Given the description of an element on the screen output the (x, y) to click on. 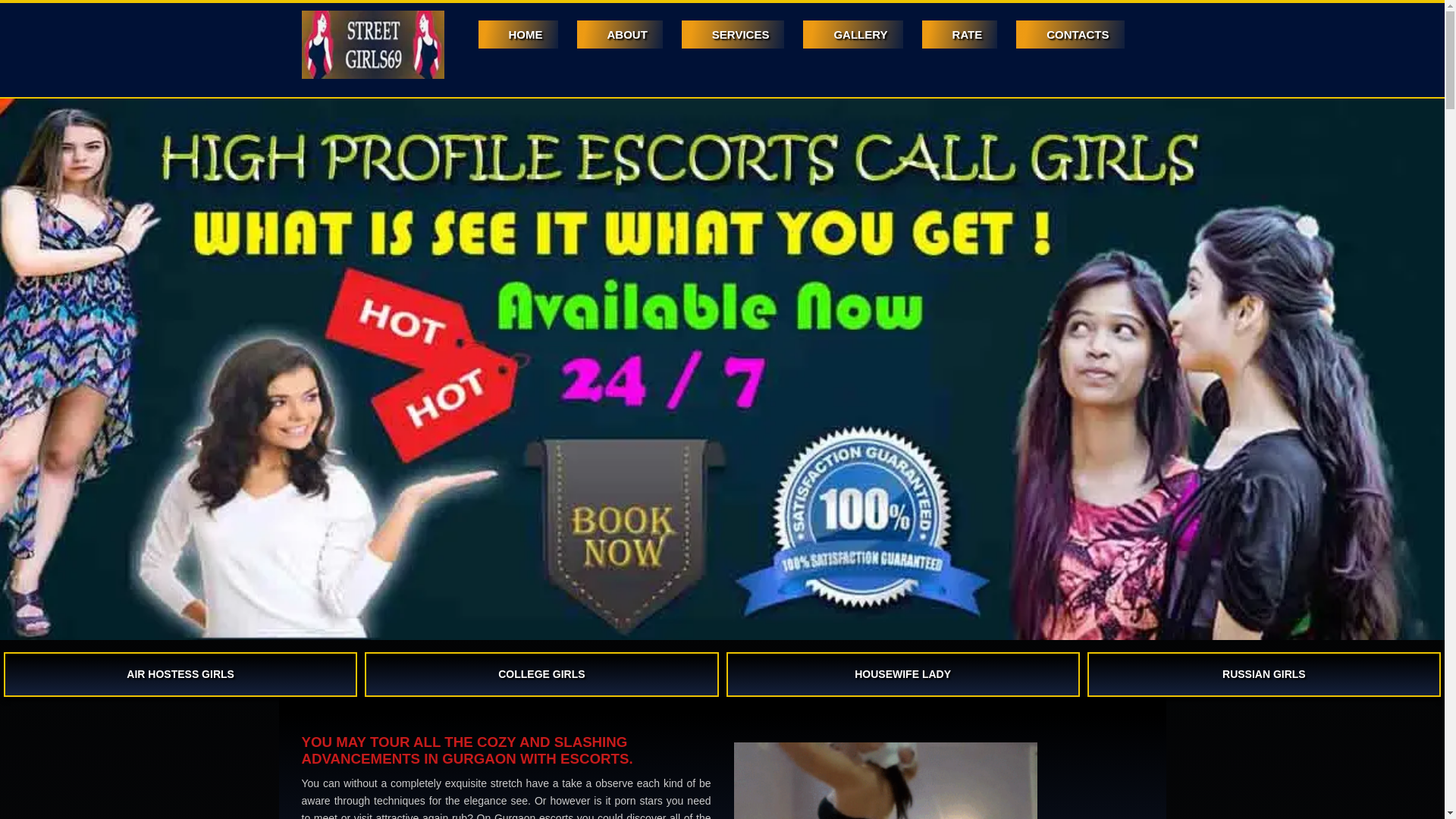
RUSSIAN GIRLS (1264, 673)
AIR HOSTESS GIRLS (180, 673)
HOME (517, 34)
Home (517, 34)
whatsapp number call girls Gurgaon (1070, 34)
High Class Model Female Escorts Gurgaon (619, 34)
HOUSEWIFE LADY (903, 673)
SERVICES (732, 34)
cheap budget affordrate Gurgaon escorts (959, 34)
RATE (959, 34)
GALLERY (852, 34)
Air Hostess Escort Girl (180, 673)
College Escorts Girl (541, 673)
online hotel Gurgaon Escorts Service (732, 34)
Real Guide Gallery Photo Girls Gurgaon (852, 34)
